Given the description of an element on the screen output the (x, y) to click on. 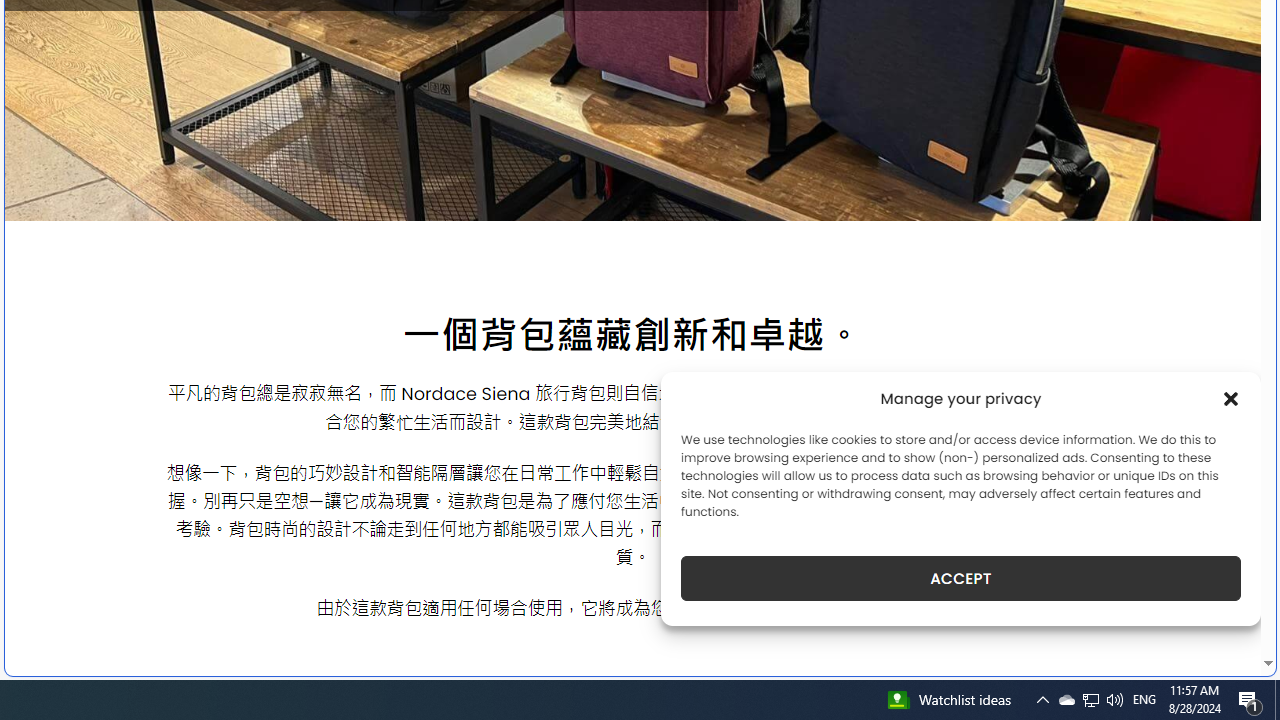
Class: cmplz-close (1231, 398)
ACCEPT (960, 578)
